Given the description of an element on the screen output the (x, y) to click on. 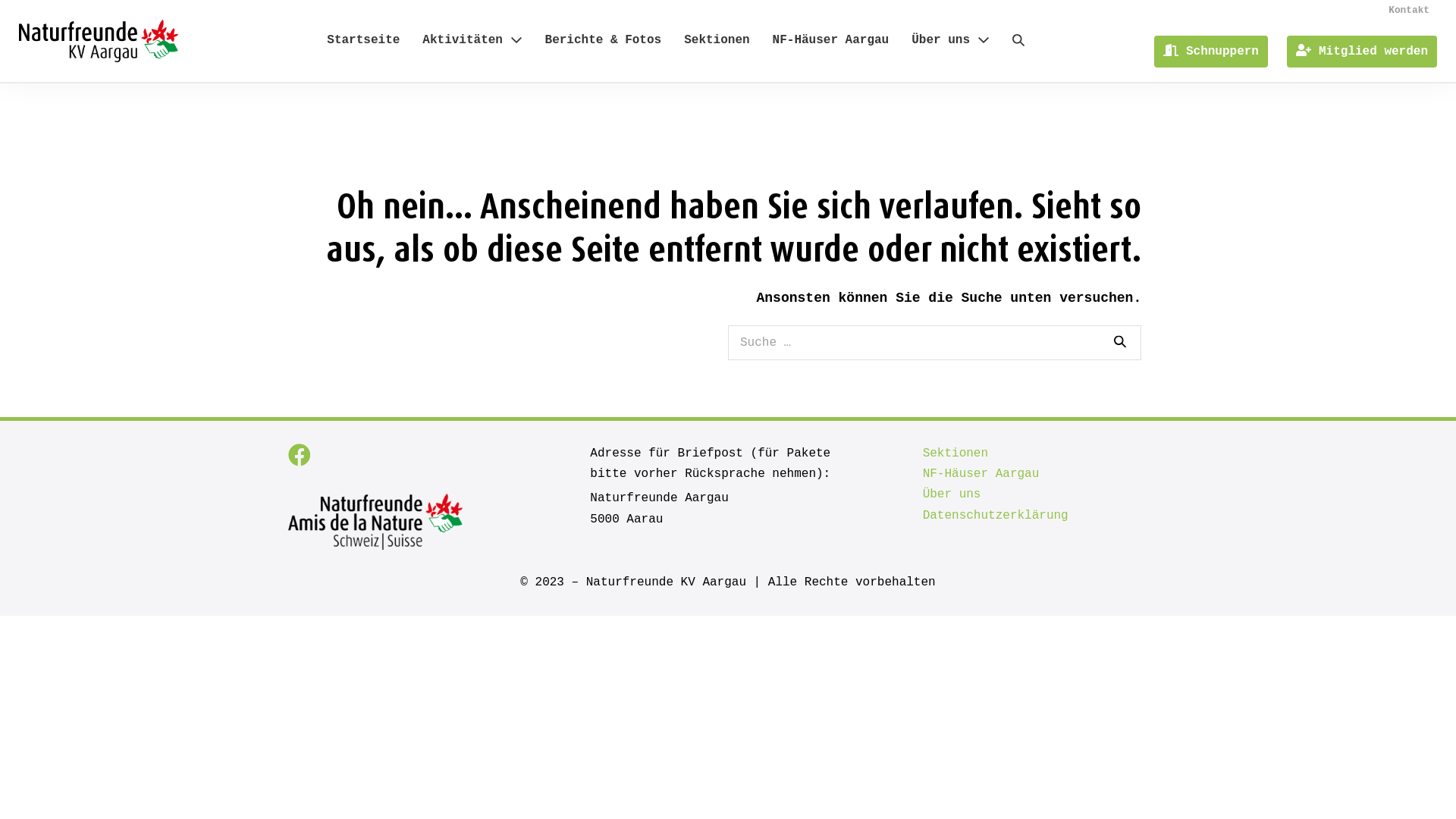
Sektionen Element type: text (716, 40)
Mitglied werden Element type: text (1361, 51)
Berichte & Fotos Element type: text (603, 40)
Schnuppern Element type: text (1210, 51)
Sektionen Element type: text (955, 453)
Kontakt Element type: text (1408, 9)
Naturfreunde KV Aargau Element type: hover (98, 40)
Suche-Schalter Element type: text (1018, 40)
Suche Element type: text (1119, 342)
Startseite Element type: text (363, 40)
